Given the description of an element on the screen output the (x, y) to click on. 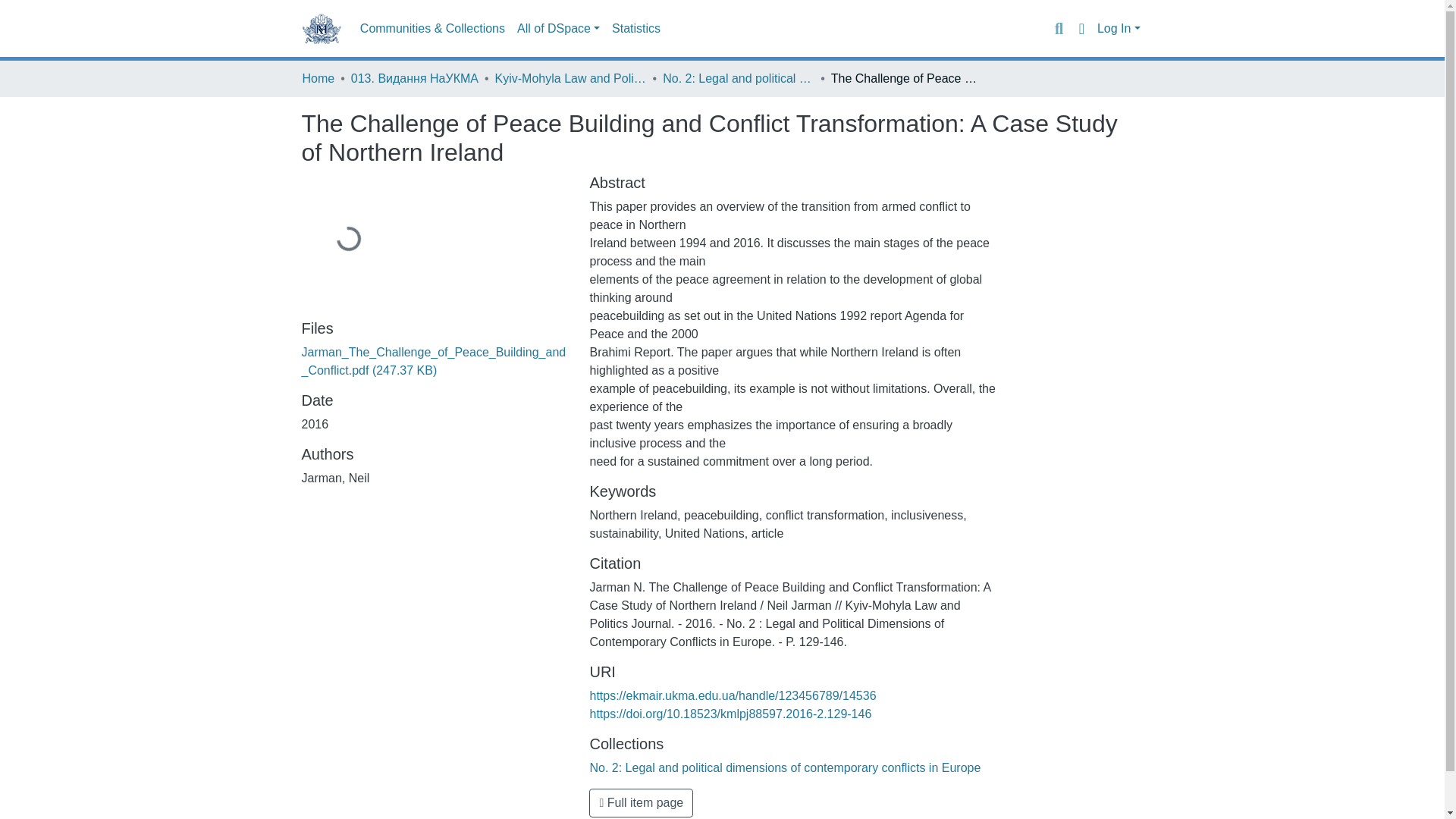
All of DSpace (558, 28)
Search (1058, 28)
Language switch (1081, 28)
Log In (1118, 28)
Full item page (641, 802)
Statistics (635, 28)
Home (317, 78)
Kyiv-Mohyla Law and Politics Journal (570, 78)
